Given the description of an element on the screen output the (x, y) to click on. 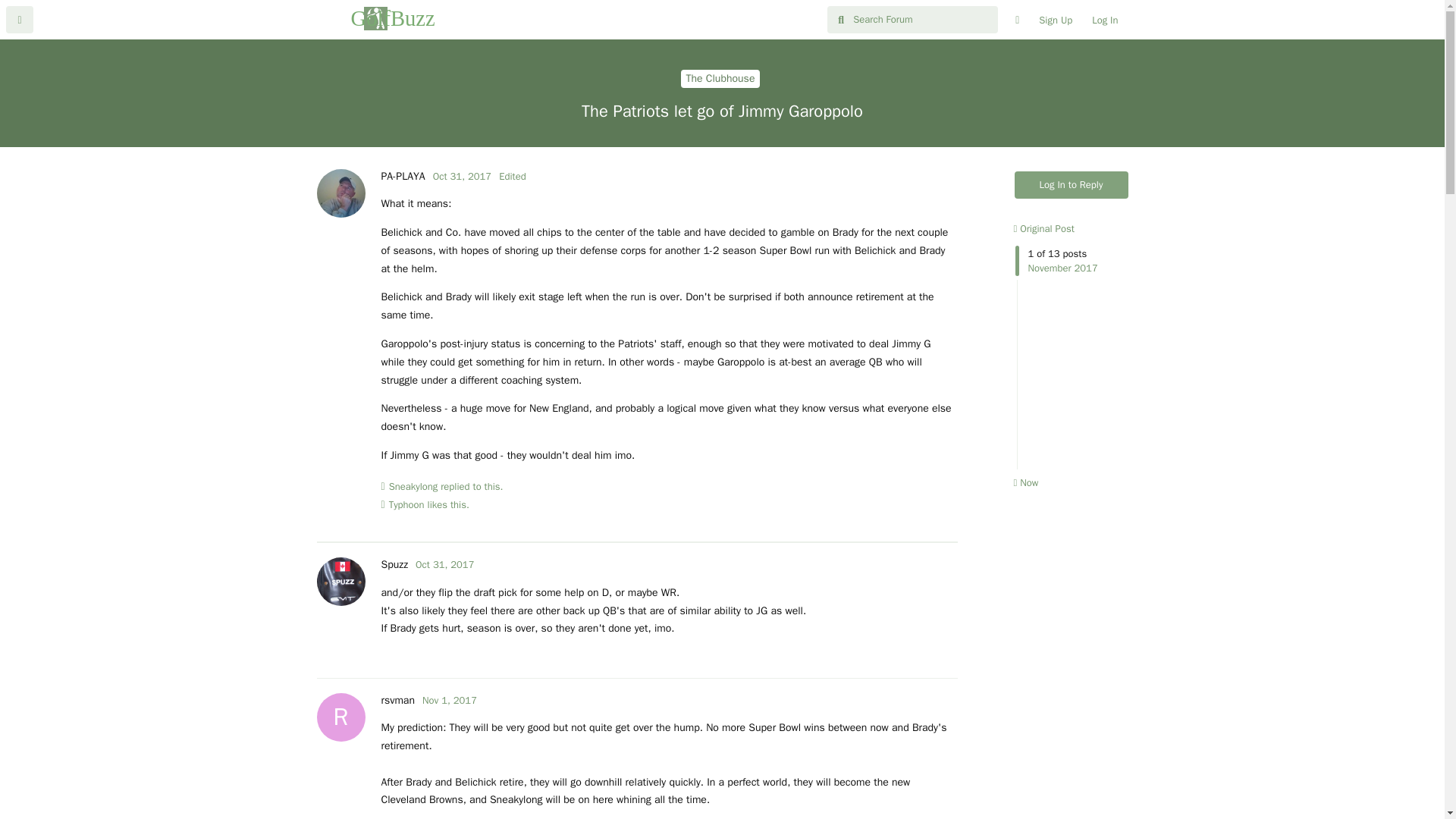
Tuesday, October 31, 2017 11:51 PM (444, 563)
Log In to Reply (396, 699)
Original Post (1071, 185)
Tuesday, October 31, 2017 11:20 PM (1043, 228)
Spuzz (462, 175)
Sign Up (393, 563)
GolfBuzz (1055, 19)
Typhoon (376, 18)
Now (406, 504)
